Given the description of an element on the screen output the (x, y) to click on. 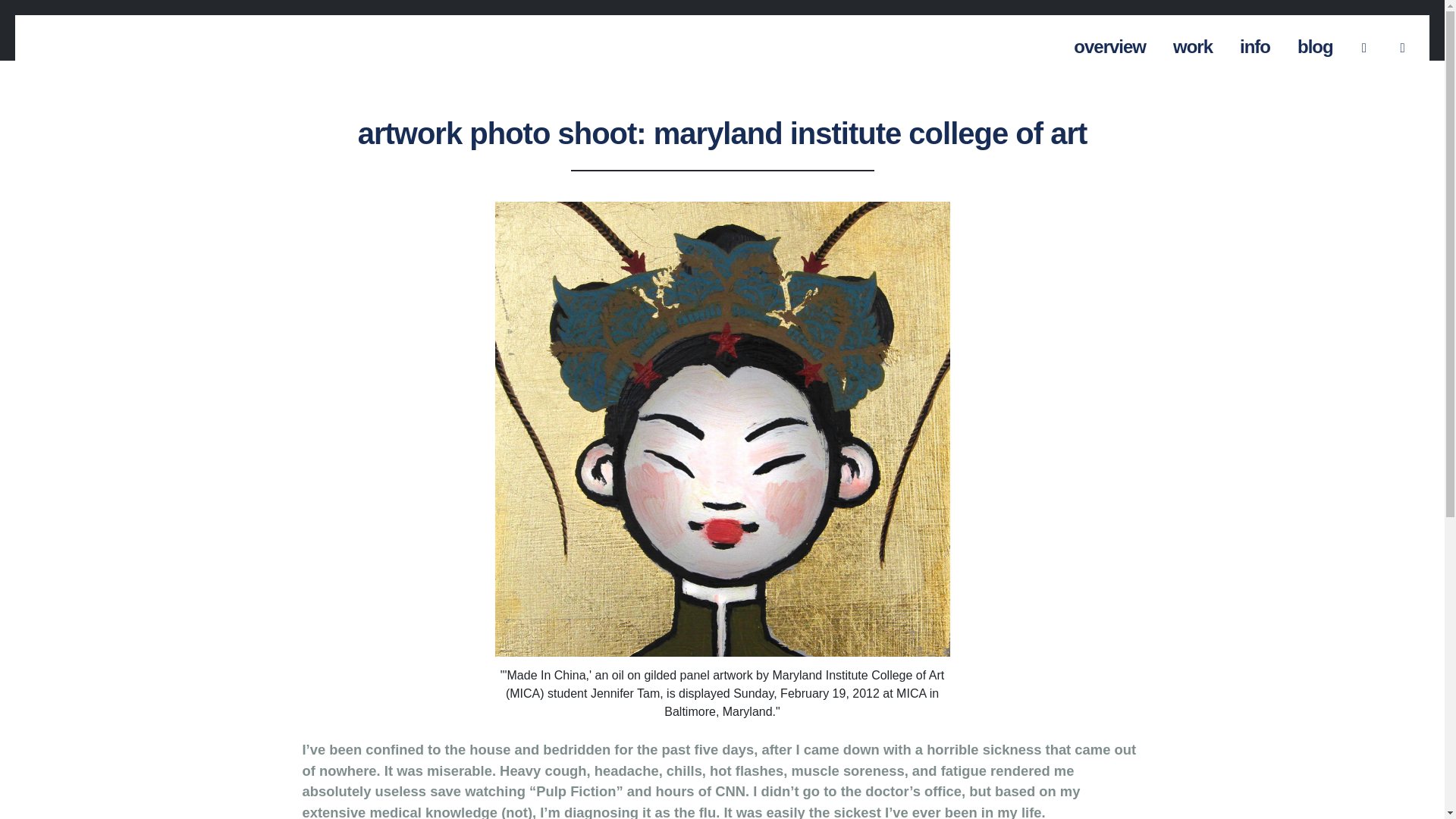
blog (1315, 43)
info (1254, 43)
work (1192, 43)
overview (1109, 43)
